Given the description of an element on the screen output the (x, y) to click on. 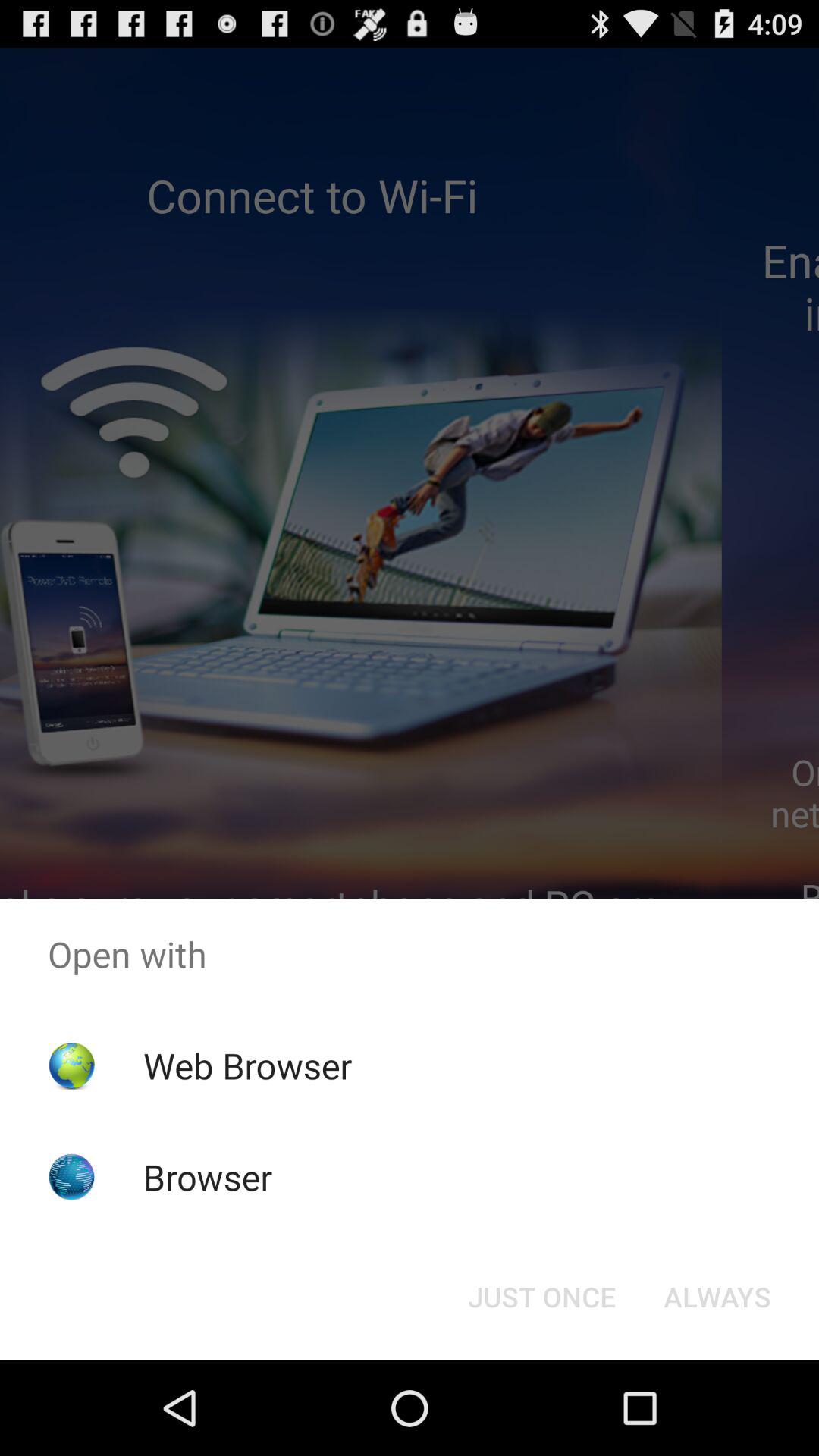
launch the item below the open with item (717, 1296)
